Given the description of an element on the screen output the (x, y) to click on. 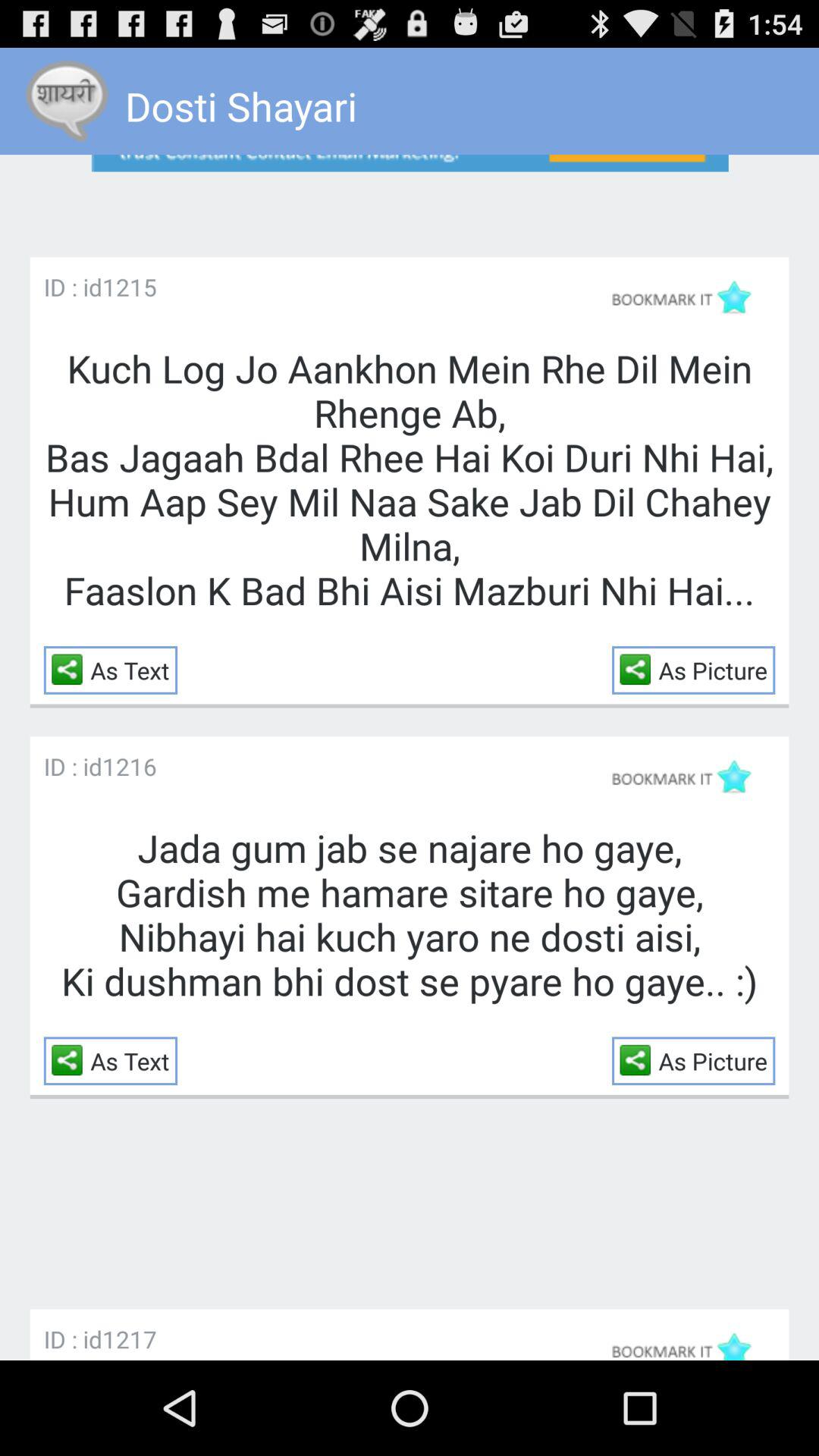
select advertisement (409, 192)
